Given the description of an element on the screen output the (x, y) to click on. 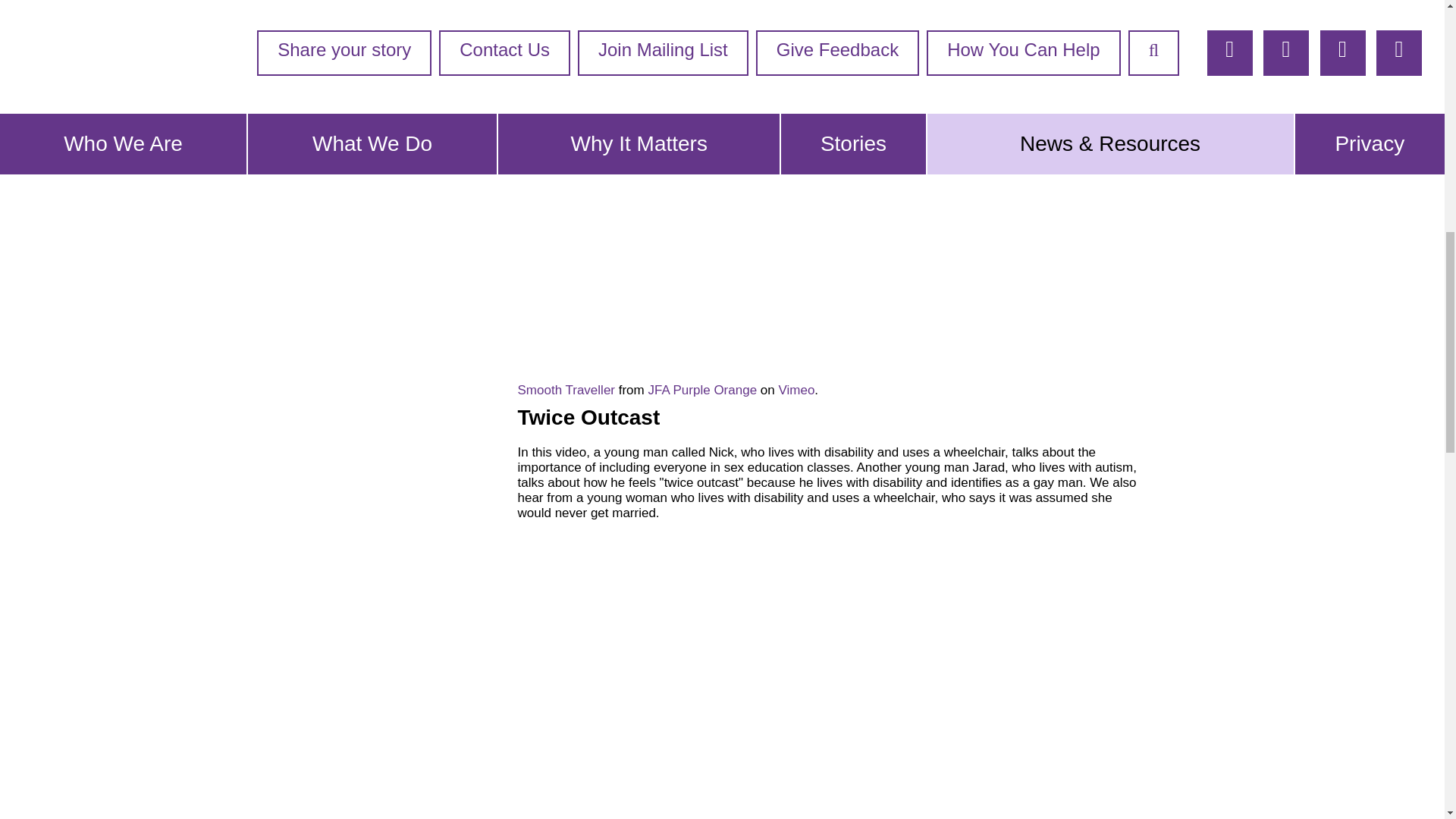
Vimeo (795, 390)
Smooth Traveller (565, 390)
JFA Purple Orange (702, 390)
